Given the description of an element on the screen output the (x, y) to click on. 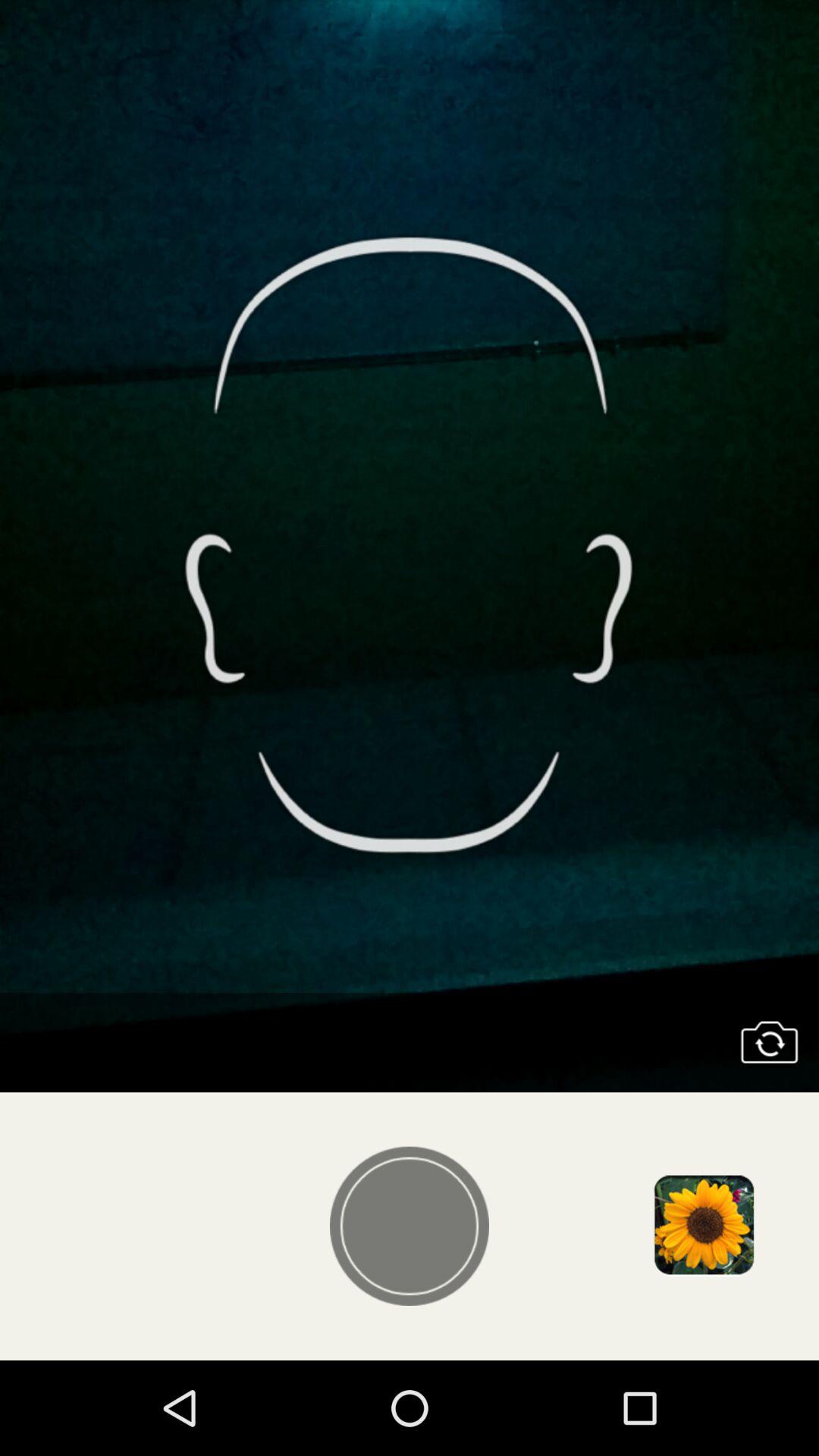
camera (769, 1042)
